Given the description of an element on the screen output the (x, y) to click on. 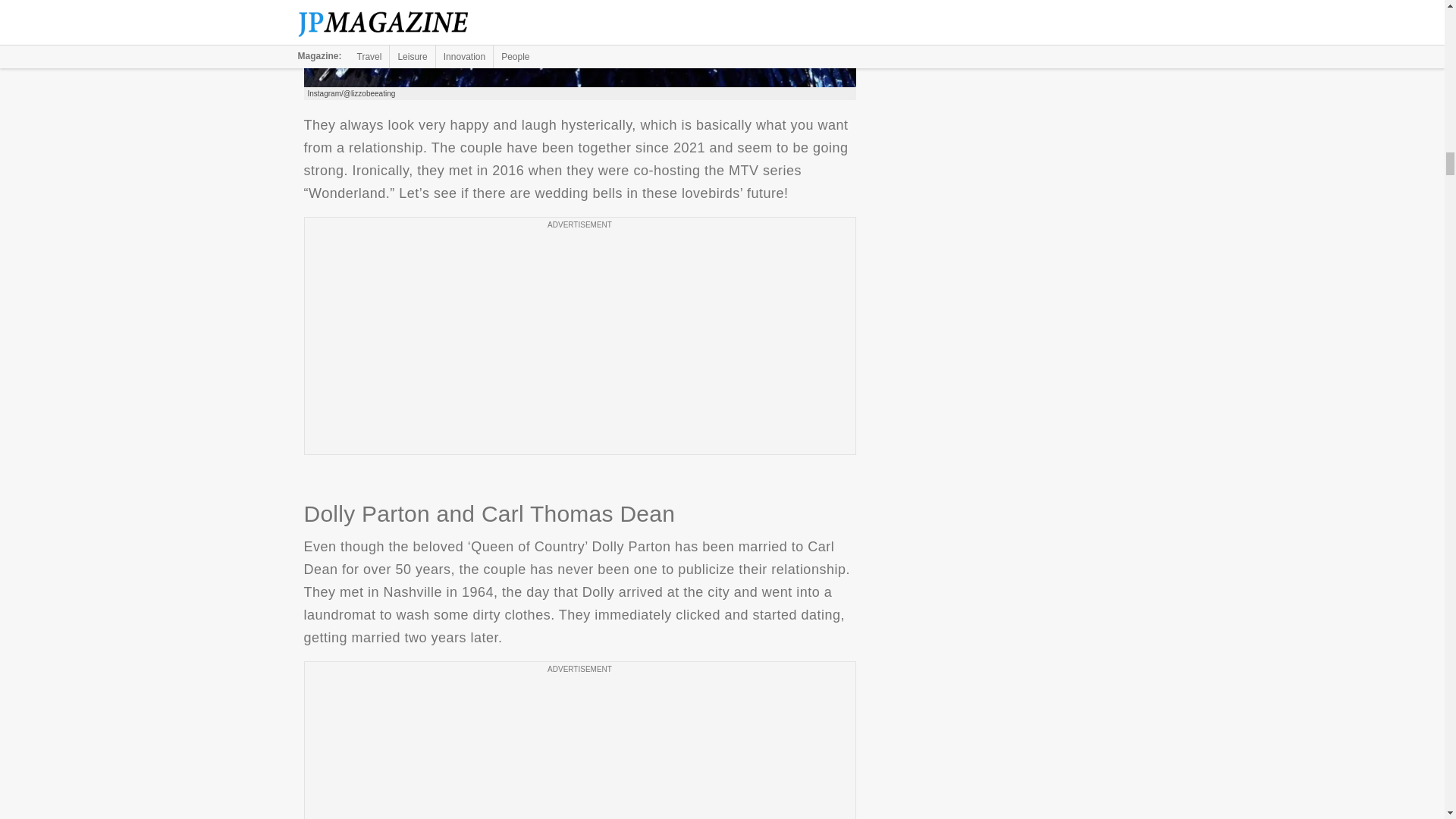
Lizzo and Myke Wright (579, 43)
